Given the description of an element on the screen output the (x, y) to click on. 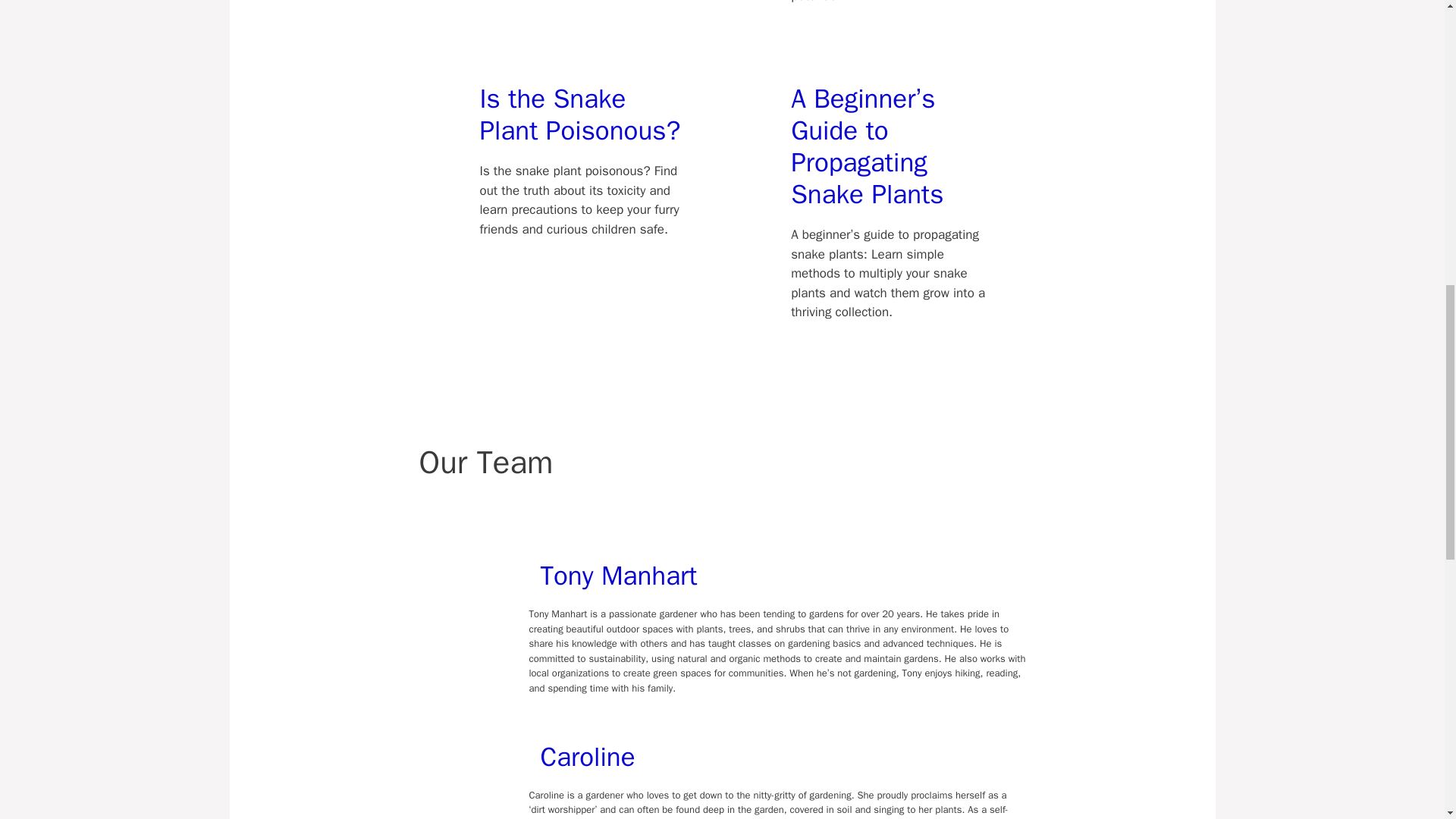
Caroline (587, 756)
Tony Manhart (618, 575)
image (464, 780)
Is the Snake Plant Poisonous? (580, 114)
